Given the description of an element on the screen output the (x, y) to click on. 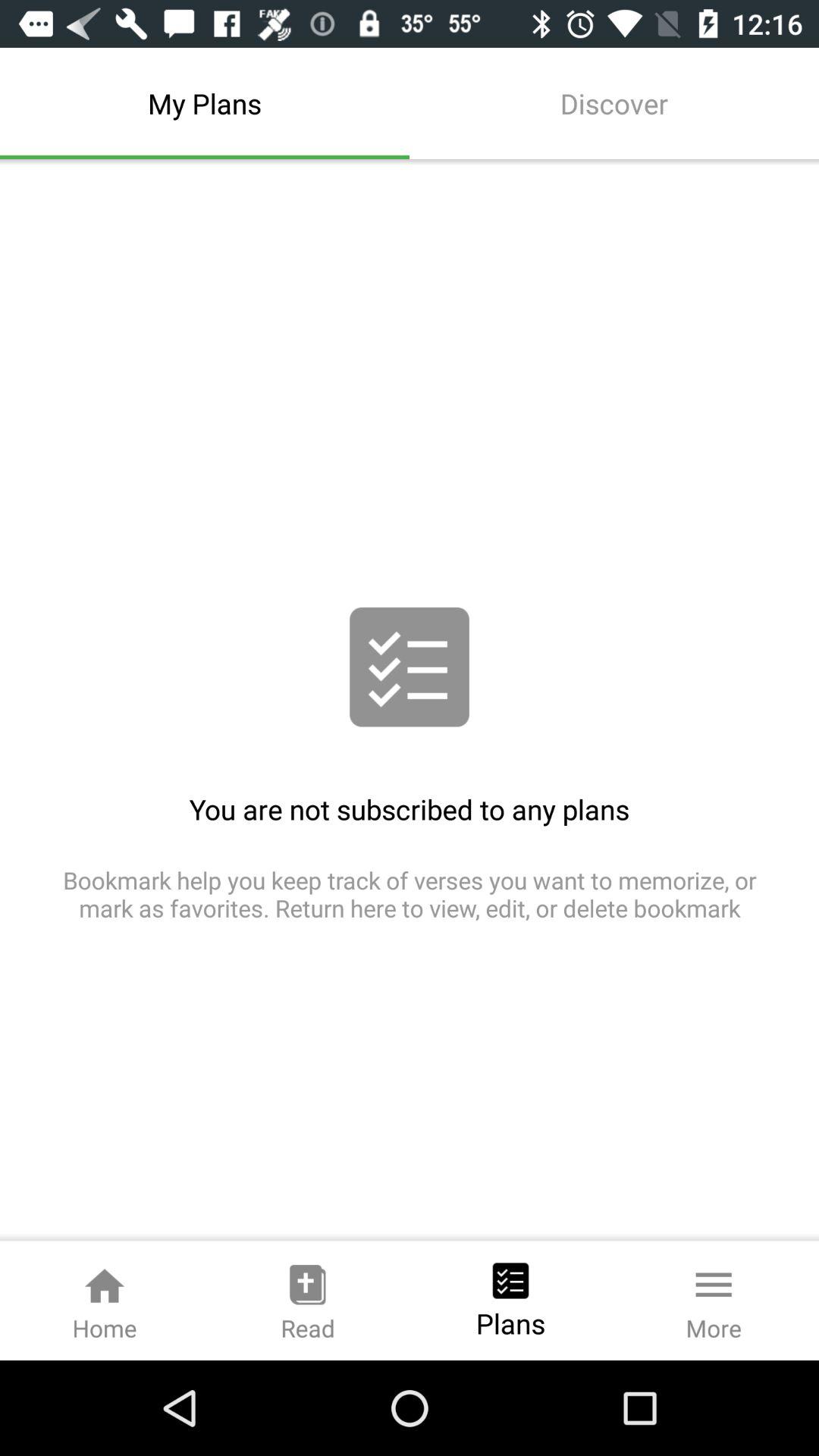
click on the home icon (105, 1300)
